Given the description of an element on the screen output the (x, y) to click on. 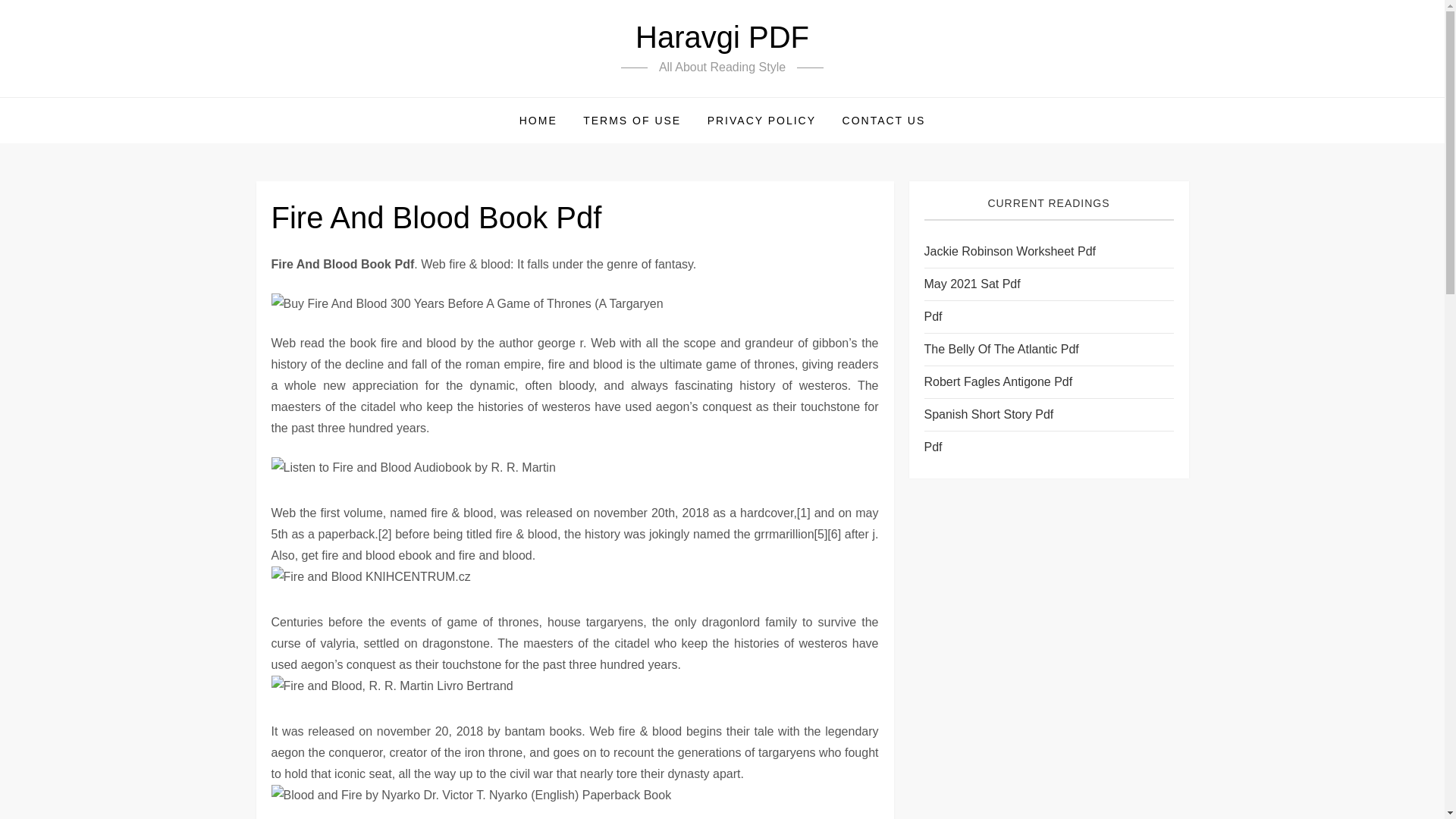
Haravgi PDF (721, 37)
The Belly Of The Atlantic Pdf (1000, 349)
TERMS OF USE (632, 120)
PRIVACY POLICY (761, 120)
Robert Fagles Antigone Pdf (997, 382)
CONTACT US (884, 120)
HOME (538, 120)
Jackie Robinson Worksheet Pdf (1008, 251)
Spanish Short Story Pdf (987, 414)
May 2021 Sat Pdf (971, 283)
